Given the description of an element on the screen output the (x, y) to click on. 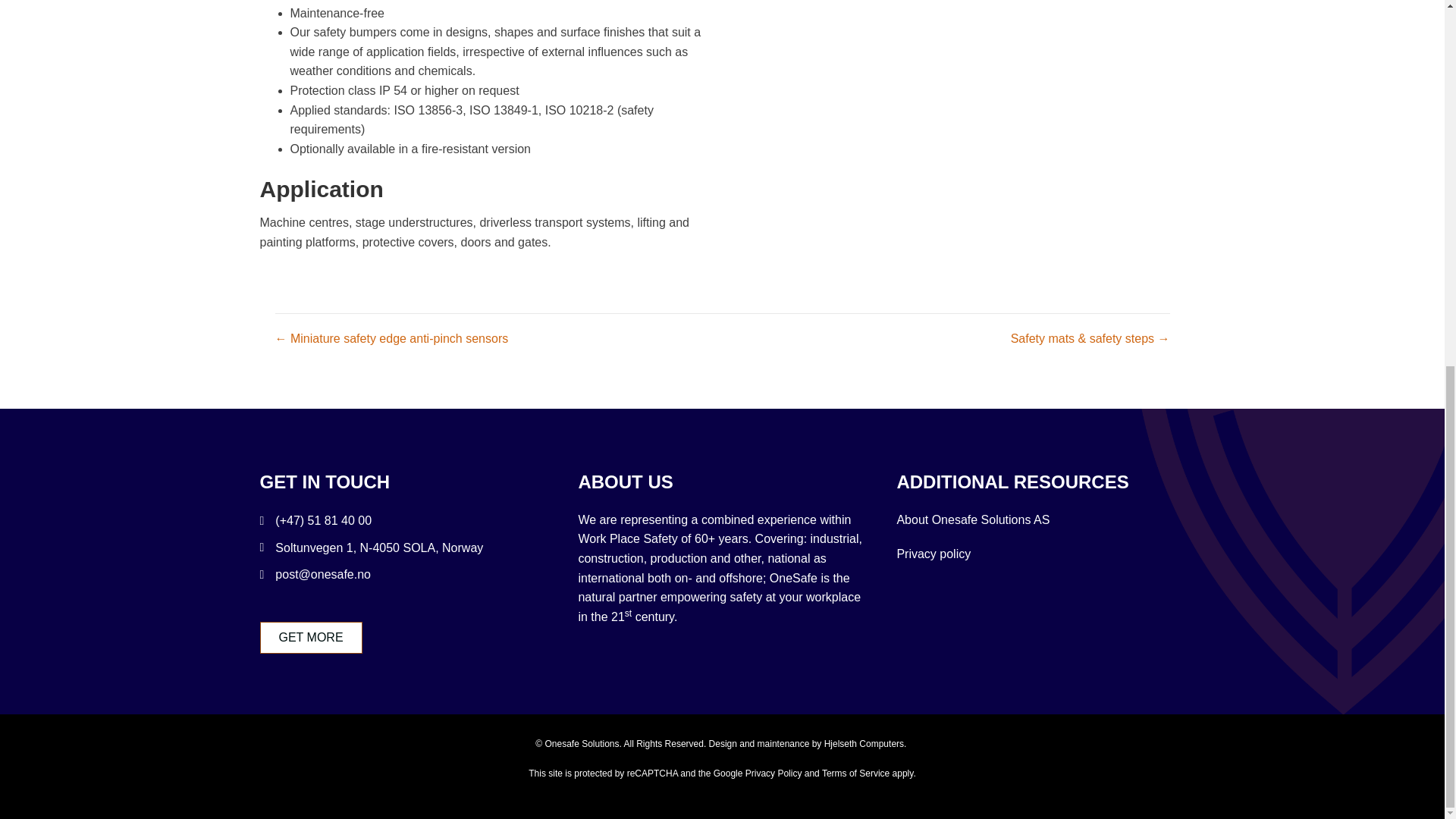
Privacy policy (933, 553)
Terms of Service (855, 773)
Privacy Policy (773, 773)
GET MORE (310, 637)
About Onesafe Solutions AS (972, 519)
Hjelseth Computers.  (866, 743)
